Given the description of an element on the screen output the (x, y) to click on. 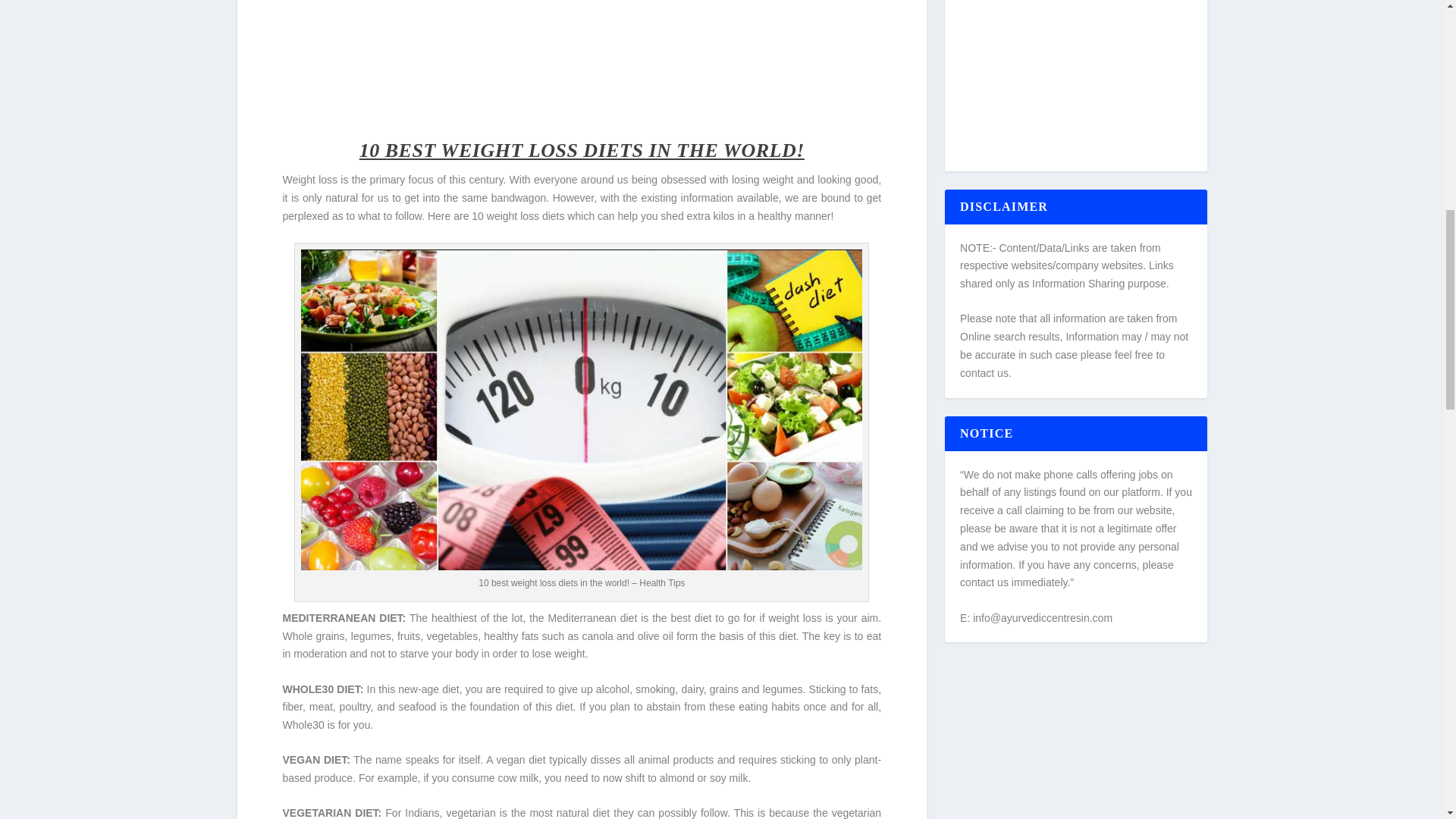
Advertisement (580, 57)
